Given the description of an element on the screen output the (x, y) to click on. 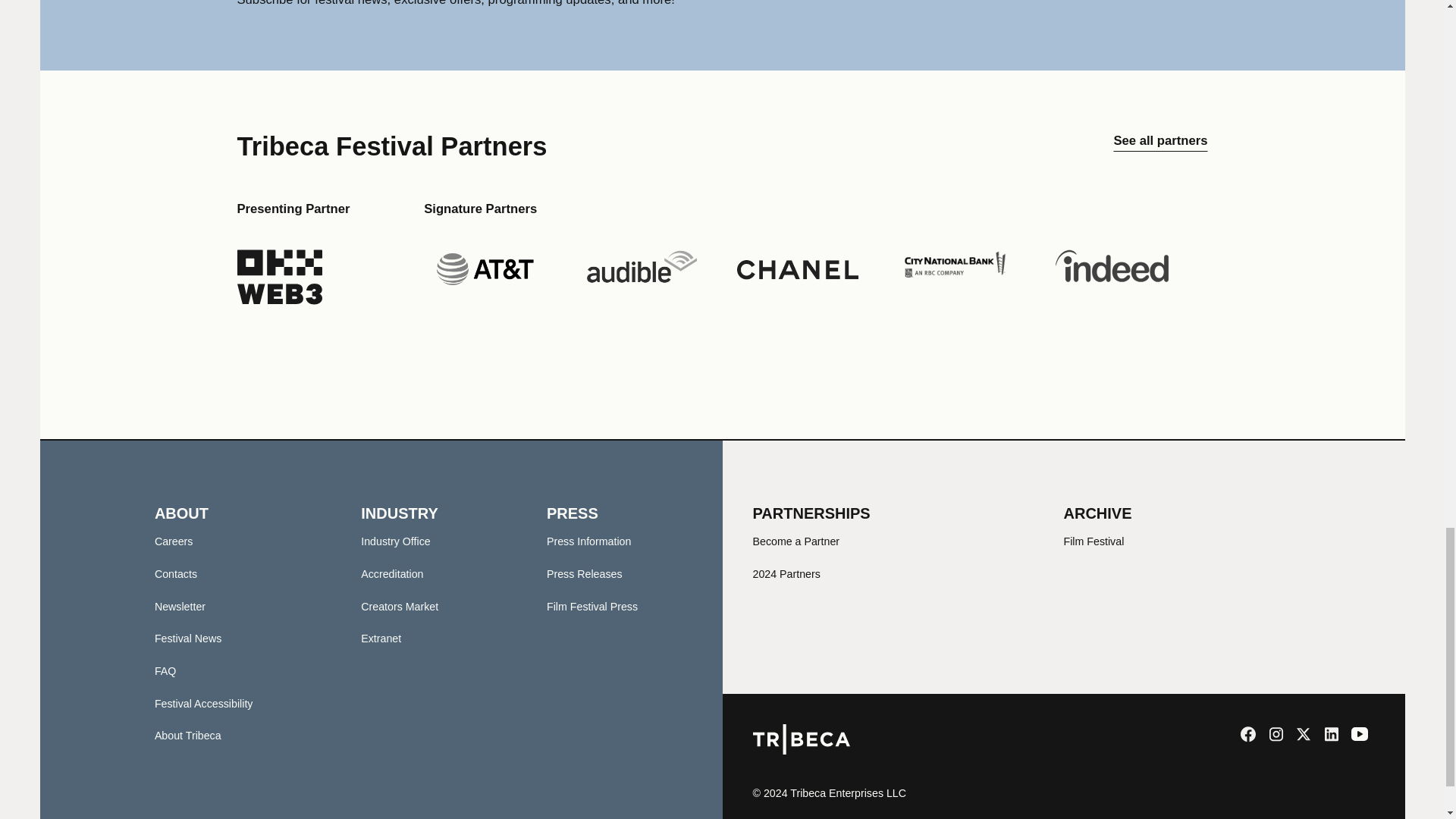
Newsletter (179, 606)
About Tribeca (187, 735)
Careers (173, 541)
See all partners (1160, 146)
Festival News (188, 638)
Contacts (175, 573)
Industry Office (395, 541)
Festival Accessibility (203, 703)
FAQ (165, 671)
